Given the description of an element on the screen output the (x, y) to click on. 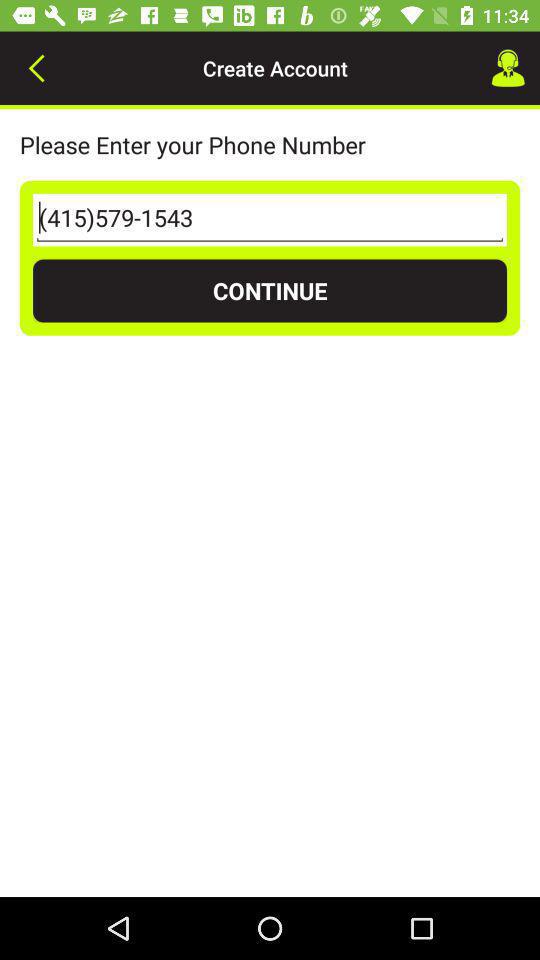
tap item next to create account (508, 67)
